Given the description of an element on the screen output the (x, y) to click on. 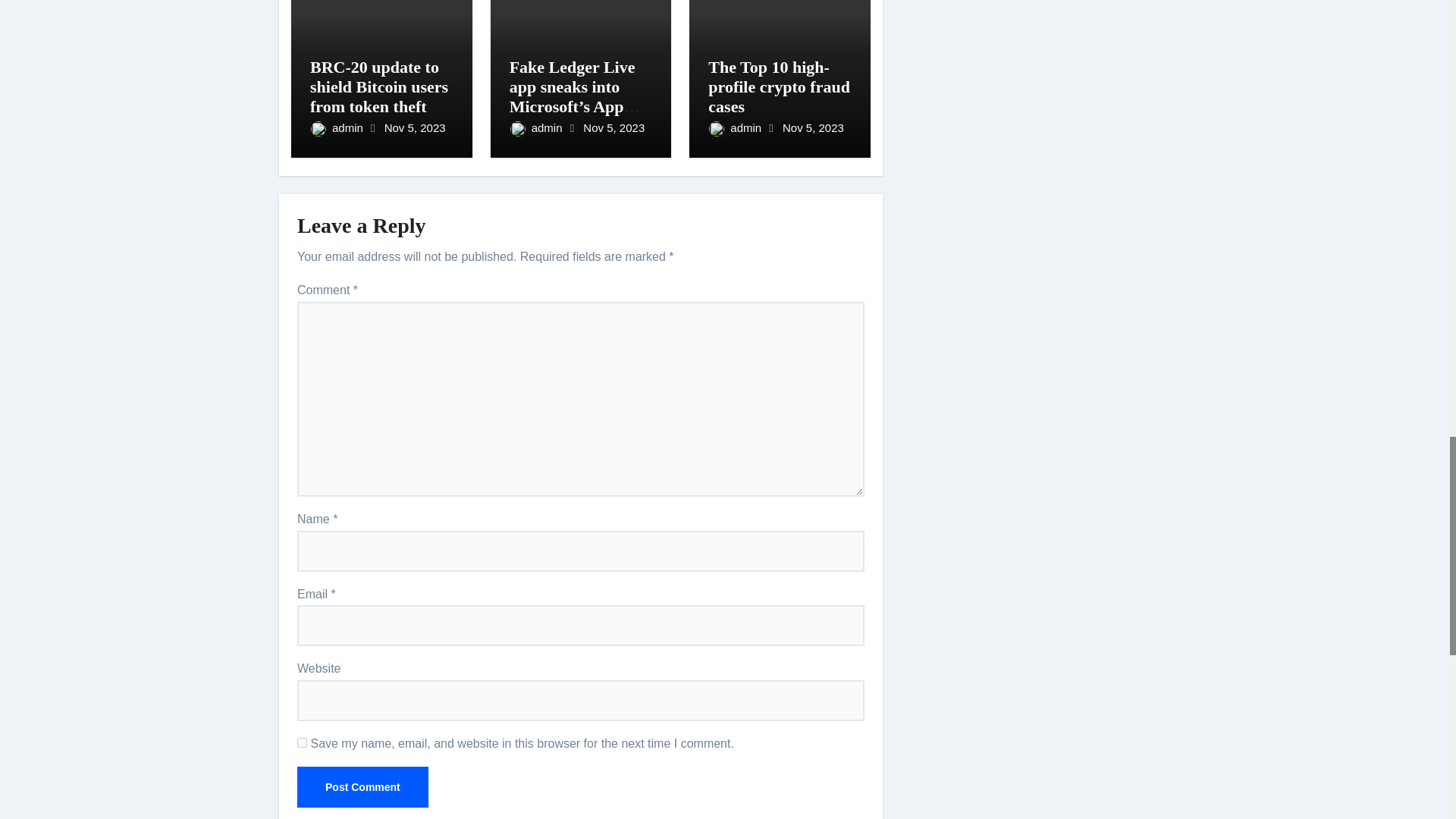
Post Comment (362, 786)
yes (302, 742)
